Given the description of an element on the screen output the (x, y) to click on. 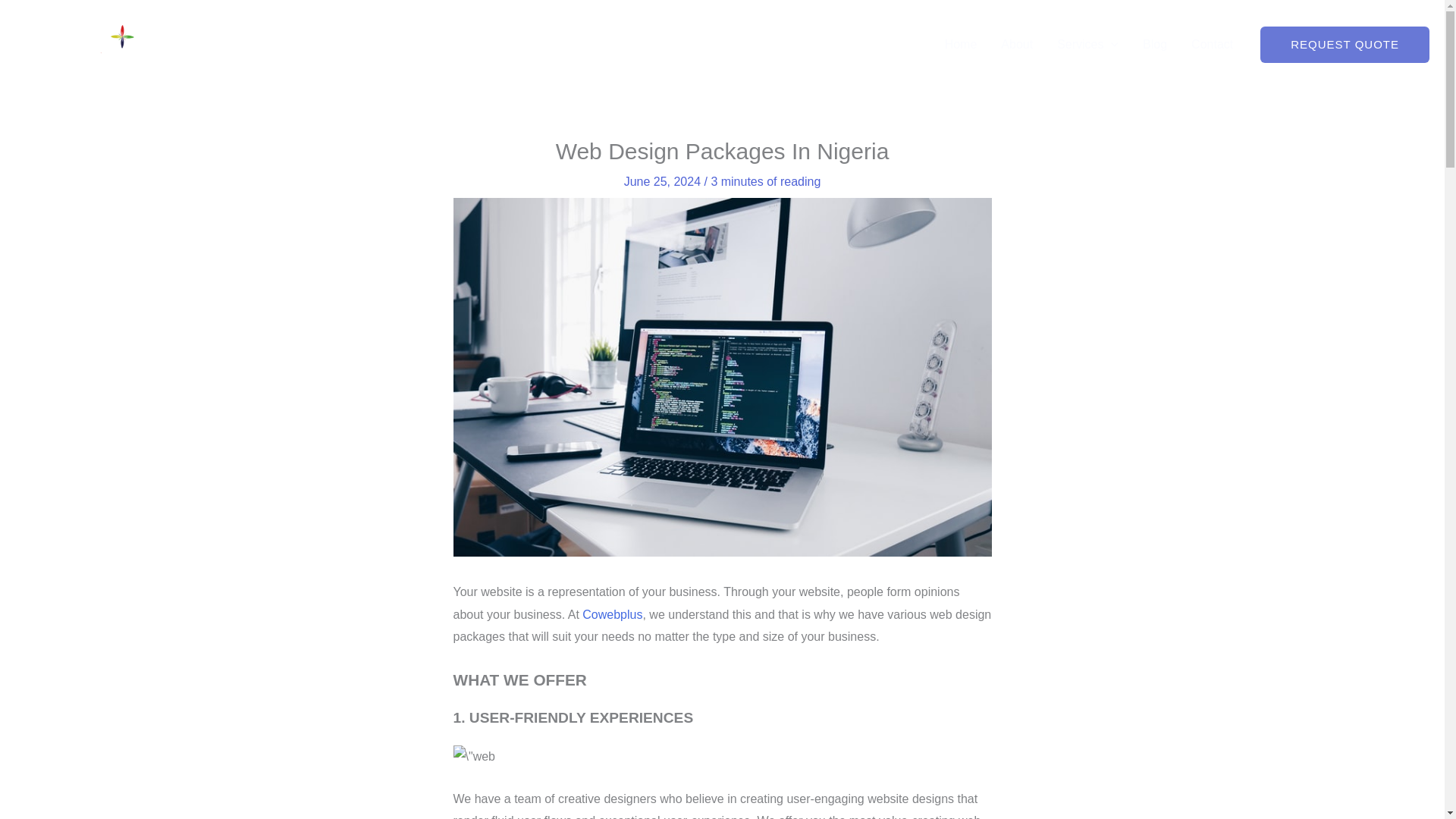
About (1016, 44)
Home (961, 44)
Blog (1155, 44)
Contact (1211, 44)
REQUEST QUOTE (1344, 44)
Services (1088, 44)
